Given the description of an element on the screen output the (x, y) to click on. 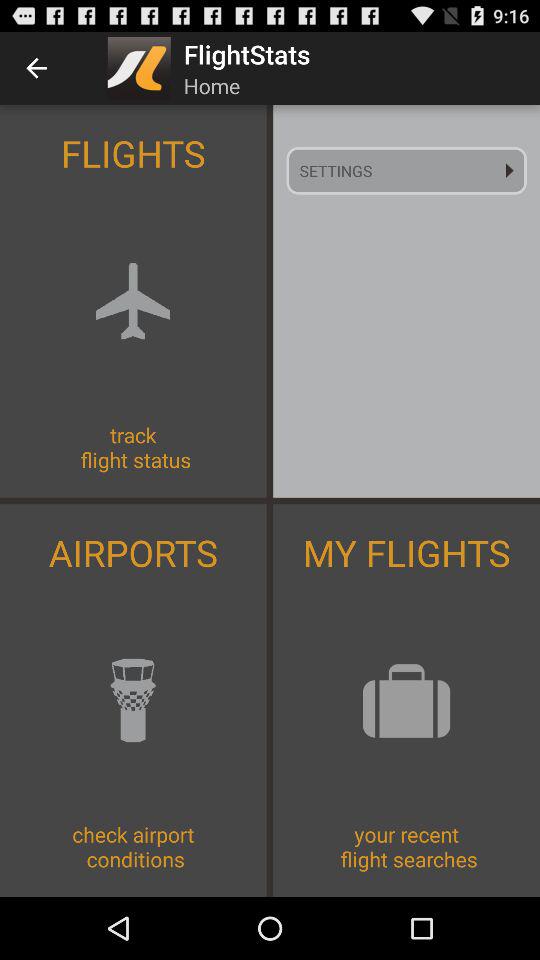
scroll to settings icon (406, 170)
